Given the description of an element on the screen output the (x, y) to click on. 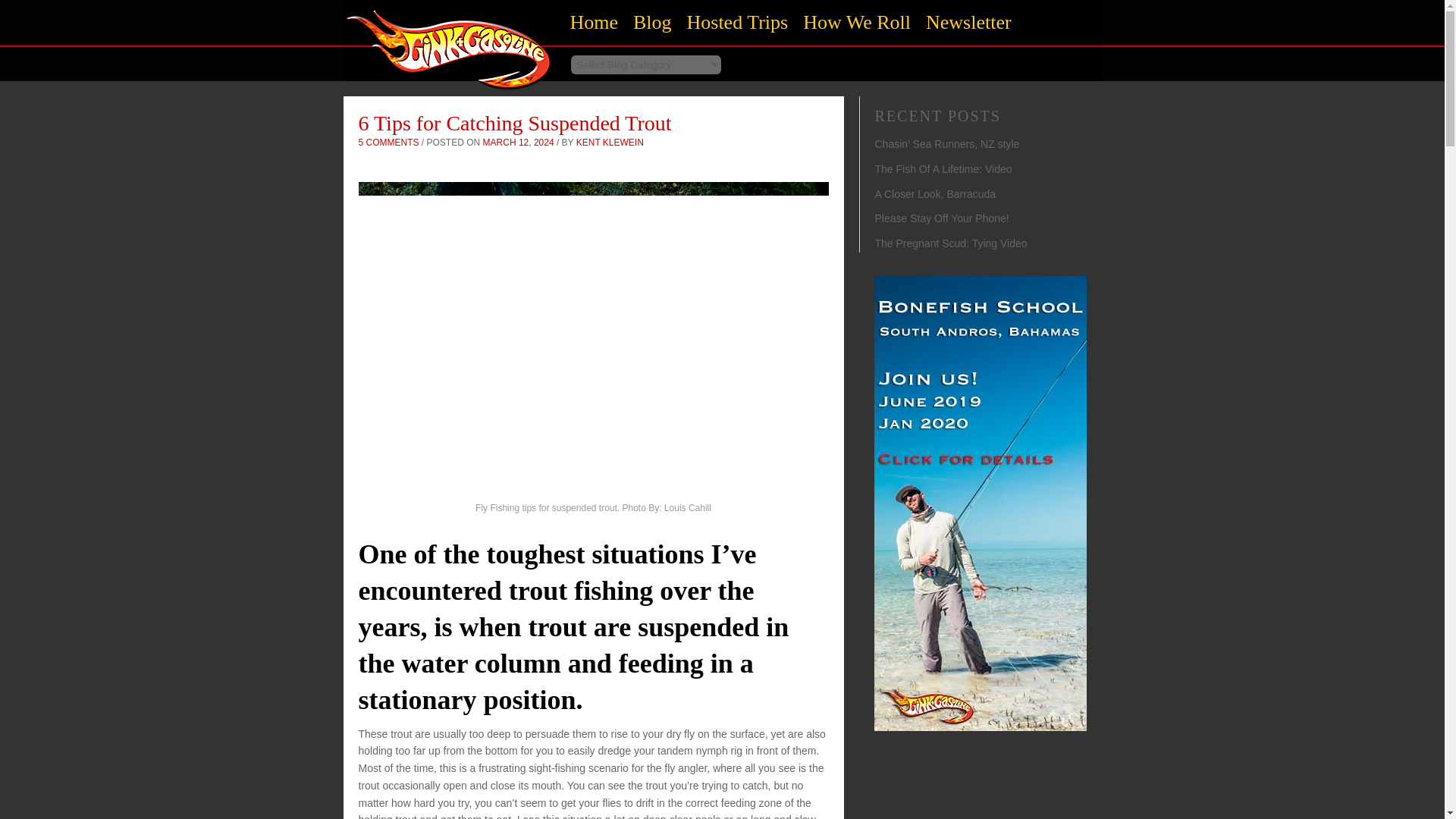
View all posts by Kent Klewein (609, 142)
Home (448, 93)
Blog (652, 22)
Skip to primary content (642, 13)
4:58 am (518, 142)
Skip to secondary content (648, 13)
Skip to primary content (642, 13)
Newsletter (968, 22)
KENT KLEWEIN (609, 142)
